Given the description of an element on the screen output the (x, y) to click on. 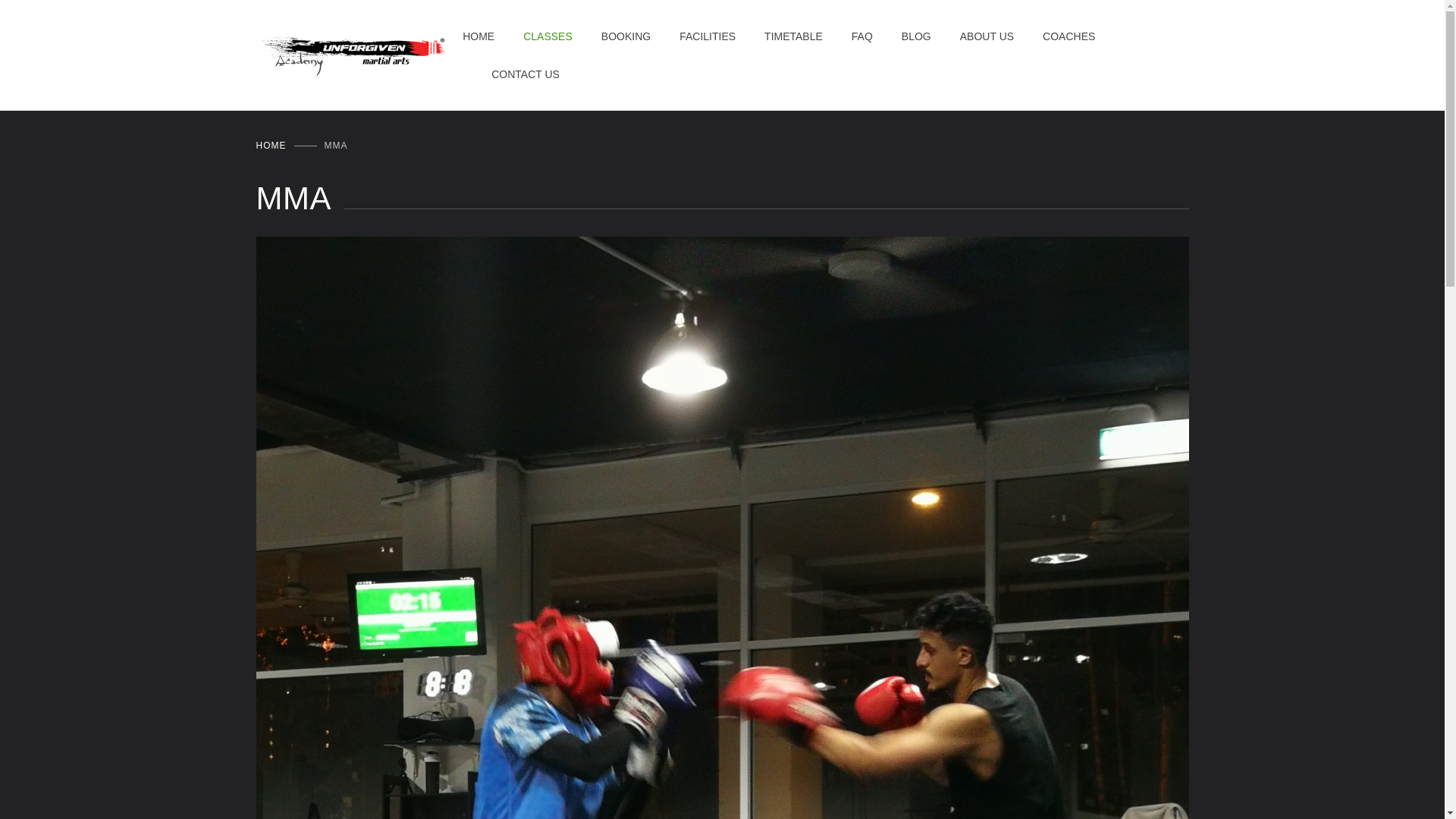
BLOG (901, 36)
HOME (271, 145)
FACILITIES (692, 36)
ABOUT US (972, 36)
CONTACT US (511, 74)
BOOKING (611, 36)
CLASSES (533, 36)
FAQ (847, 36)
Home (271, 145)
COACHES (1053, 36)
